Given the description of an element on the screen output the (x, y) to click on. 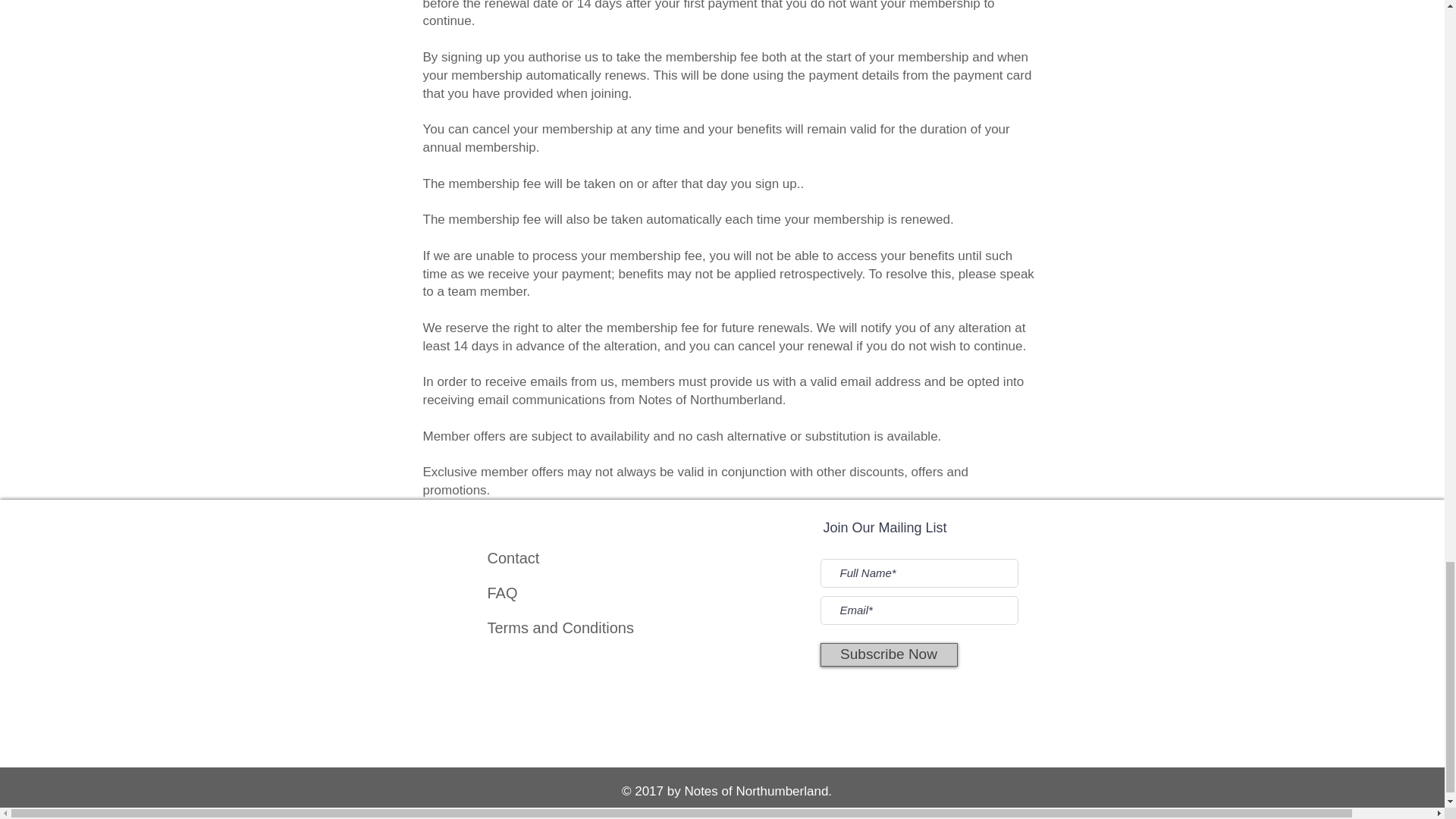
Contact (512, 557)
Subscribe Now (889, 654)
Terms and Conditions (559, 627)
FAQ (501, 592)
